Given the description of an element on the screen output the (x, y) to click on. 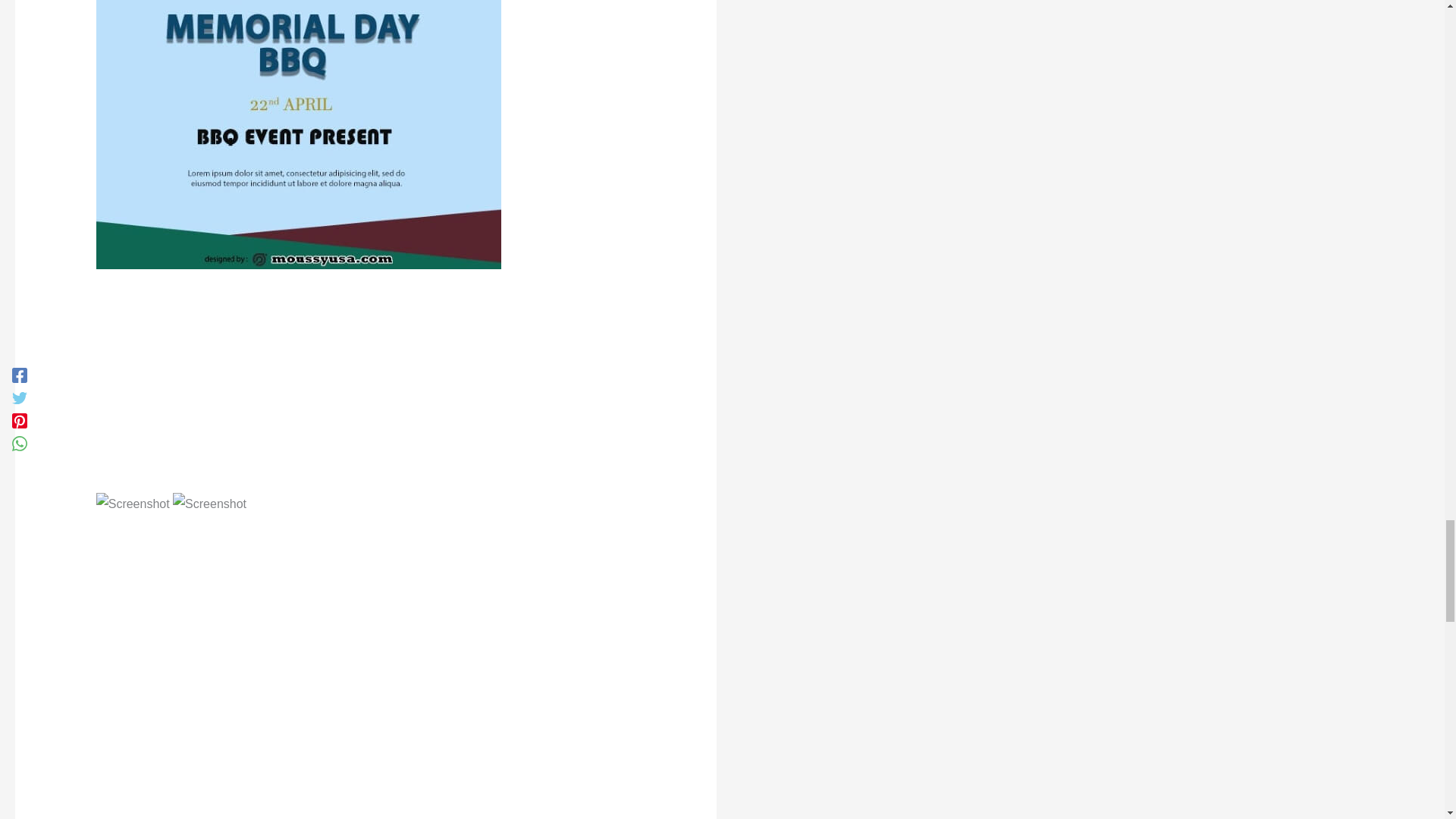
Screenshot (133, 504)
Screenshot (298, 134)
Screenshot (209, 504)
